Given the description of an element on the screen output the (x, y) to click on. 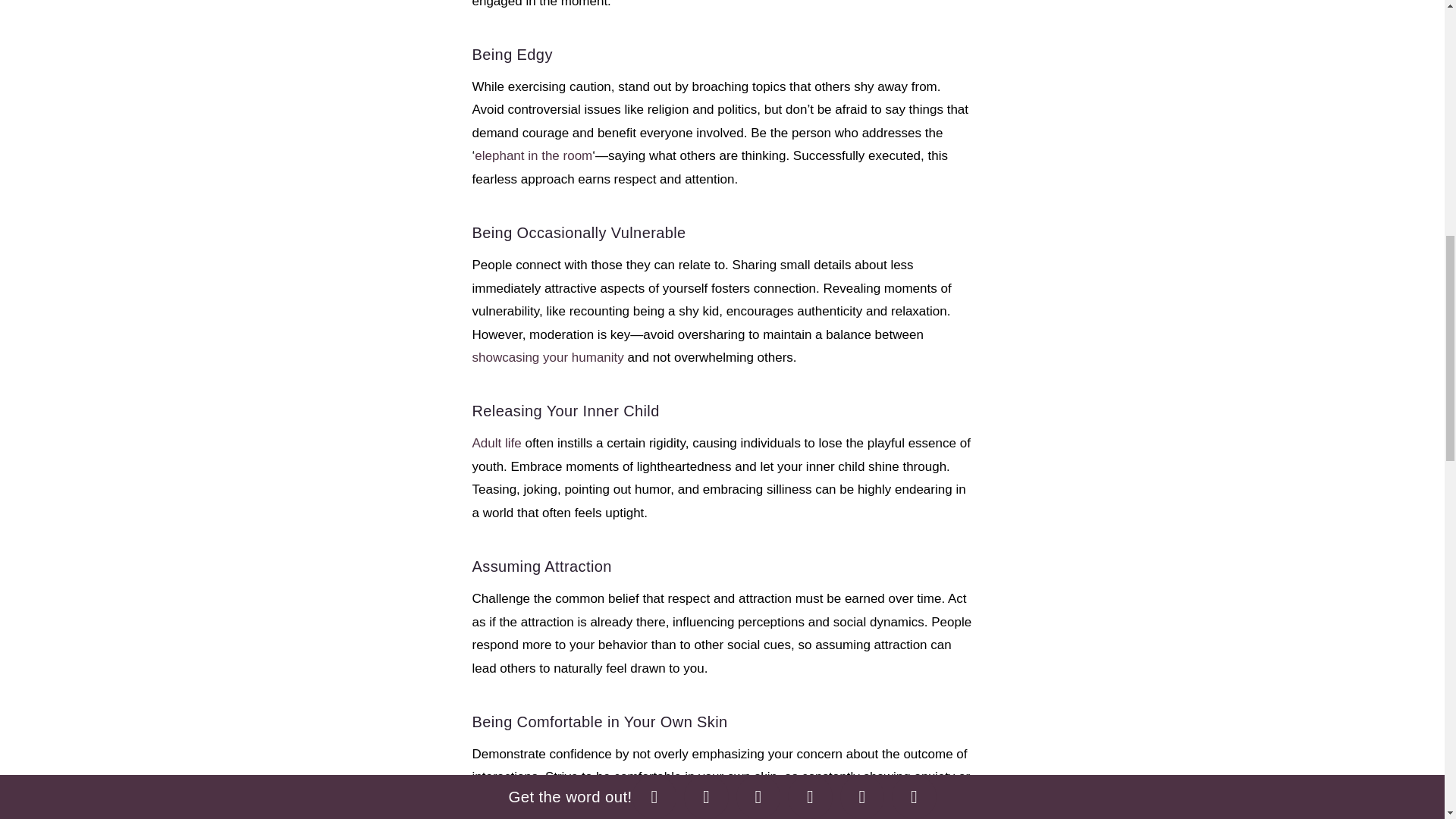
Confidence (826, 800)
elephant in the room (533, 155)
showcasing your humanity (547, 357)
Adult life (496, 442)
